Given the description of an element on the screen output the (x, y) to click on. 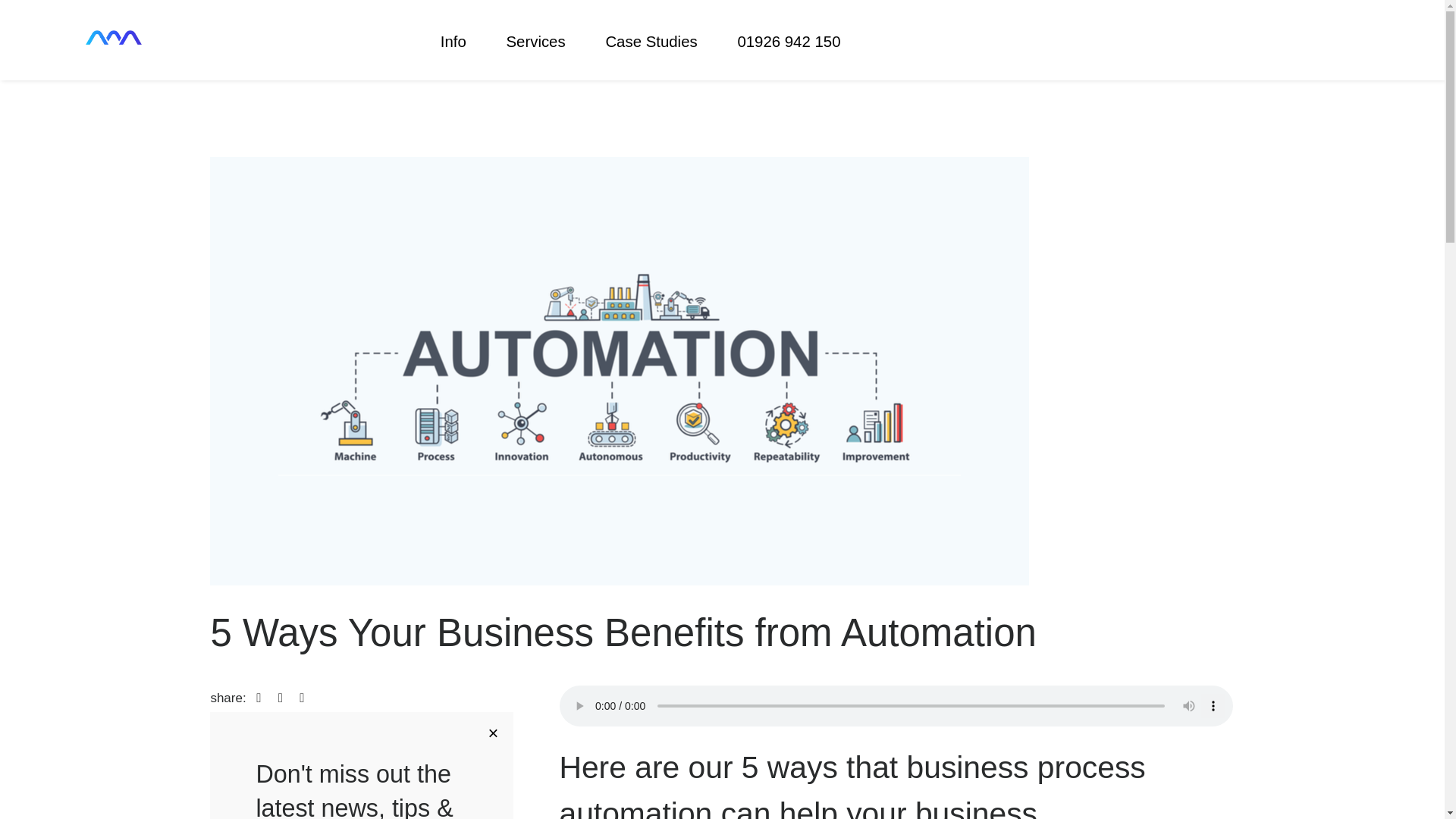
01926 942 150 (788, 41)
Info (463, 41)
Services (544, 41)
Case Studies (660, 41)
